Given the description of an element on the screen output the (x, y) to click on. 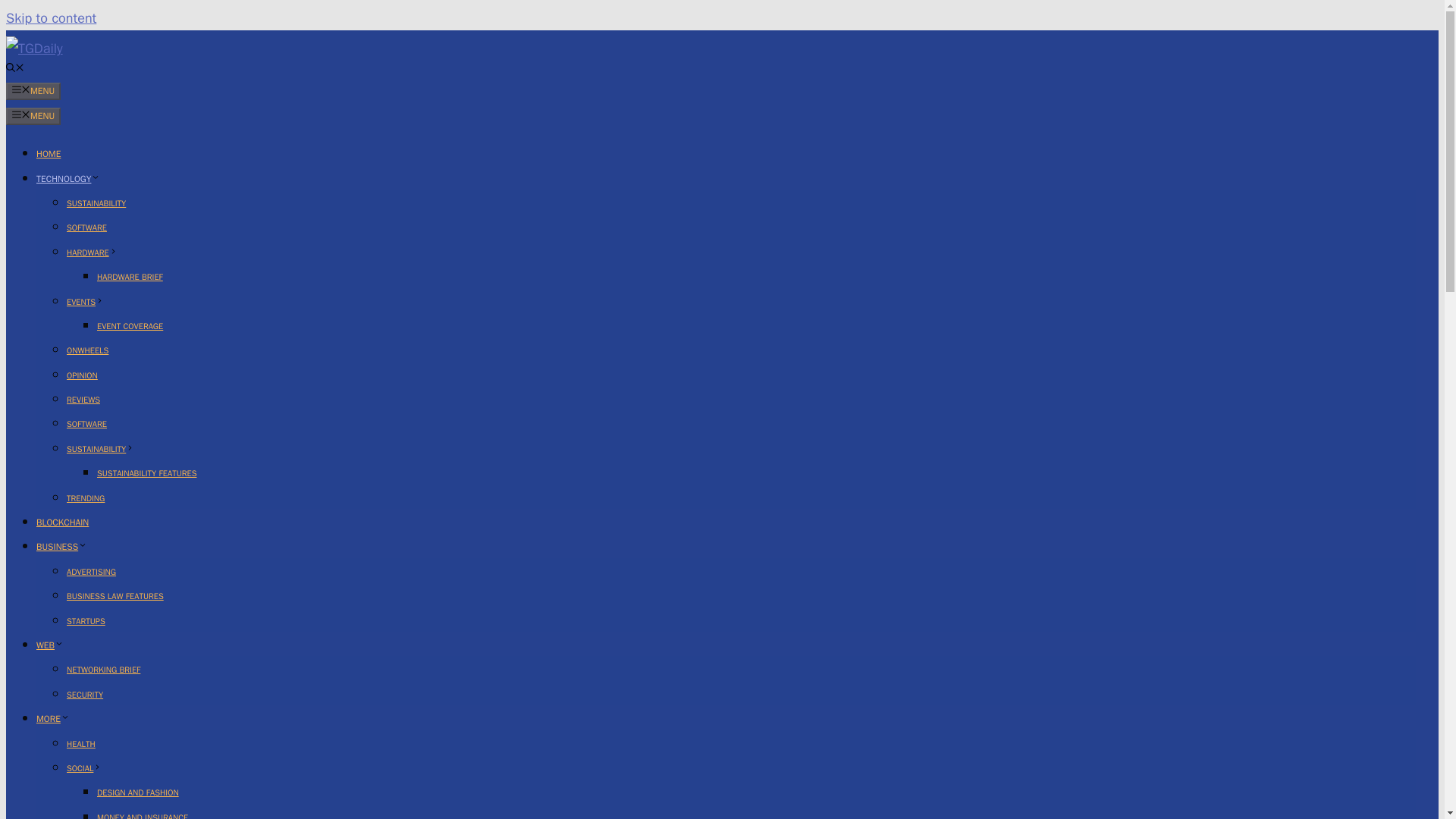
SUSTAINABILITY (95, 203)
OPINION (81, 375)
SUSTAINABILITY (99, 448)
EVENT COVERAGE (130, 326)
BUSINESS LAW FEATURES (114, 595)
DESIGN AND FASHION (138, 792)
Skip to content (50, 17)
Skip to content (50, 17)
REVIEWS (83, 398)
SOFTWARE (86, 423)
BLOCKCHAIN (62, 522)
MENU (33, 90)
ONWHEELS (86, 349)
BUSINESS (61, 546)
HEALTH (81, 743)
